Given the description of an element on the screen output the (x, y) to click on. 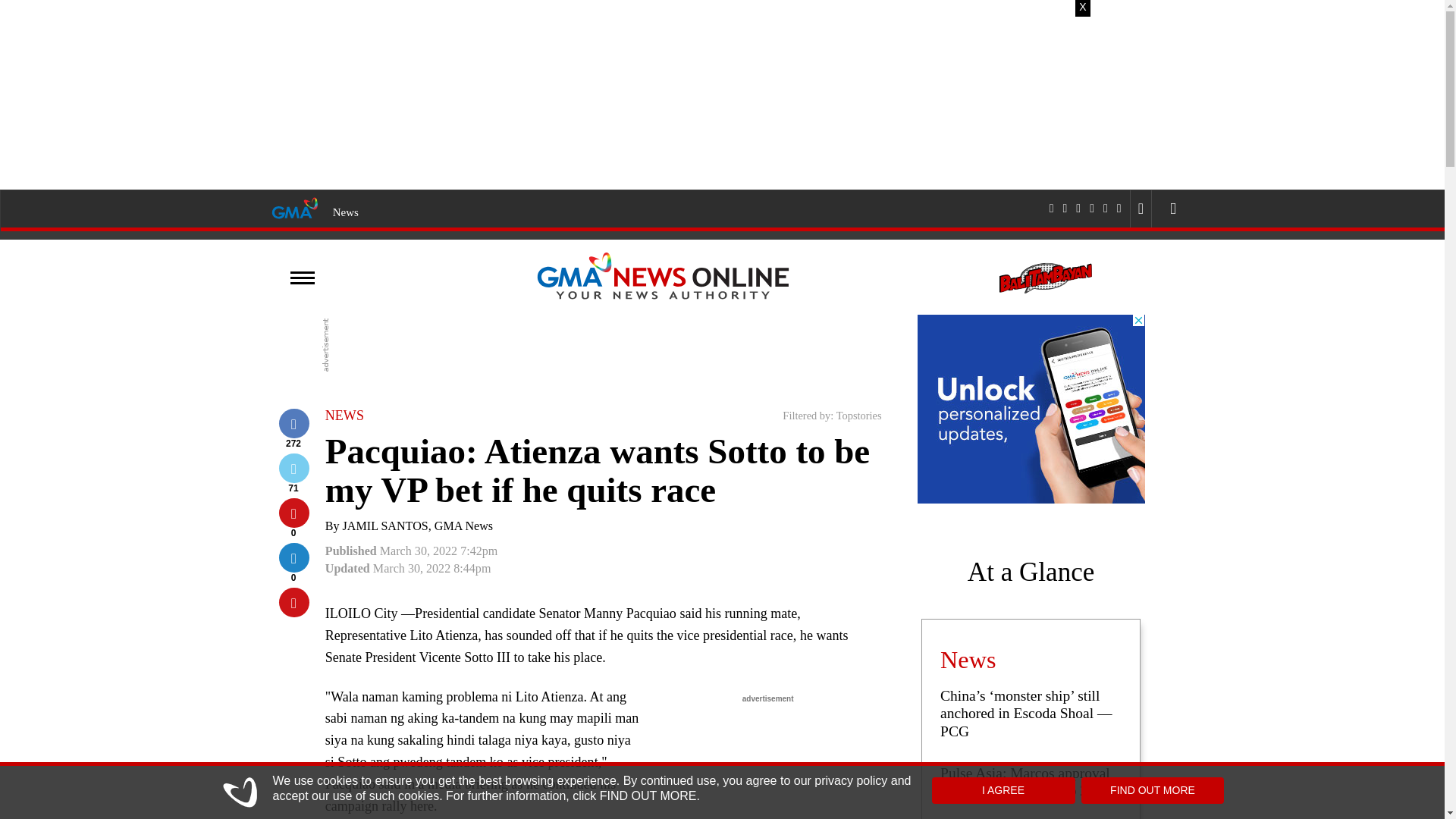
FIND OUT MORE (1152, 790)
News - GMA Network (345, 212)
News (345, 212)
GMA Network (294, 207)
I AGREE (1003, 790)
